Given the description of an element on the screen output the (x, y) to click on. 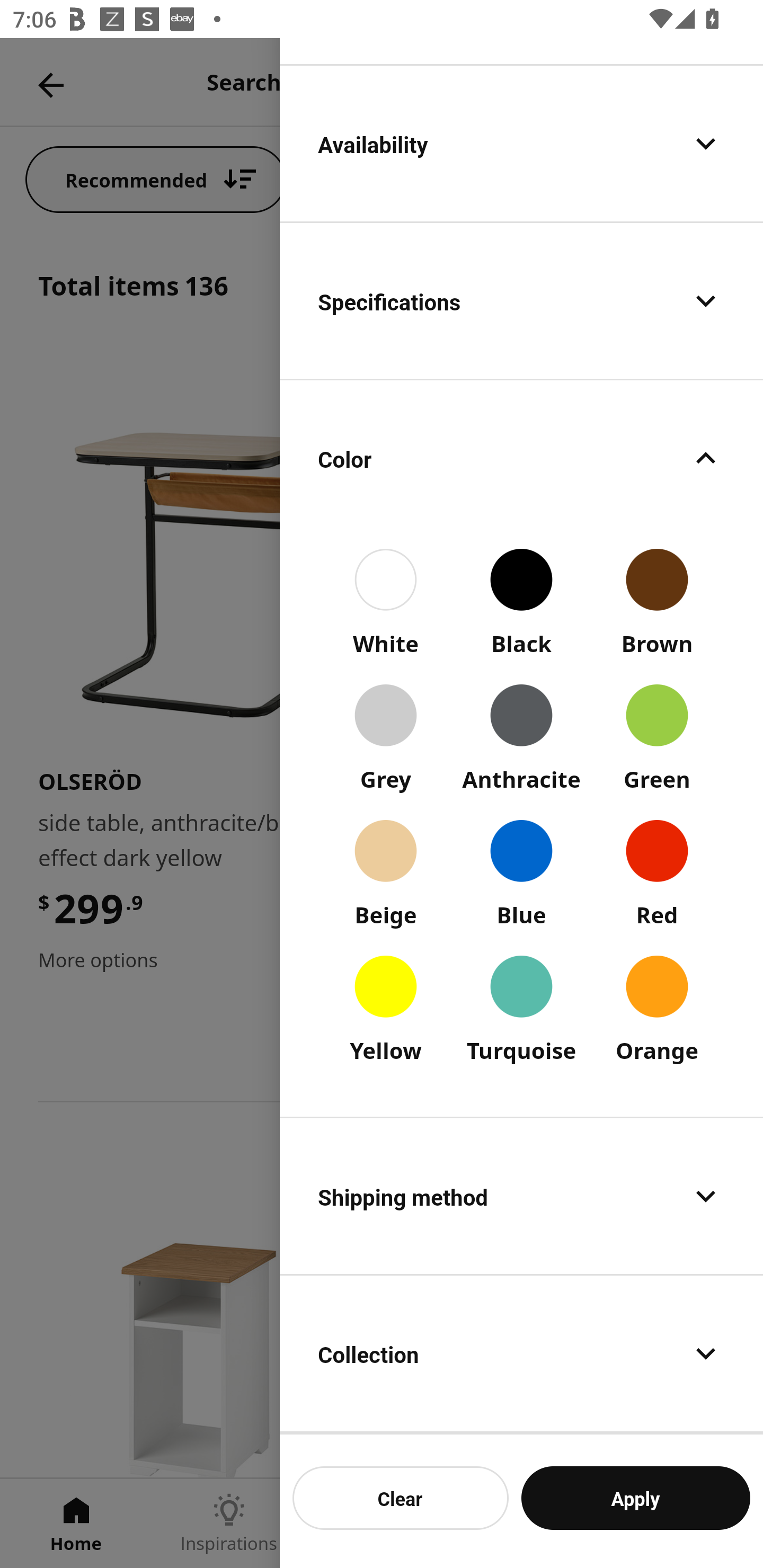
Availability (521, 143)
Specifications (521, 300)
Color (521, 458)
Shipping method (521, 1195)
Collection (521, 1353)
Clear (400, 1498)
Apply (635, 1498)
